Given the description of an element on the screen output the (x, y) to click on. 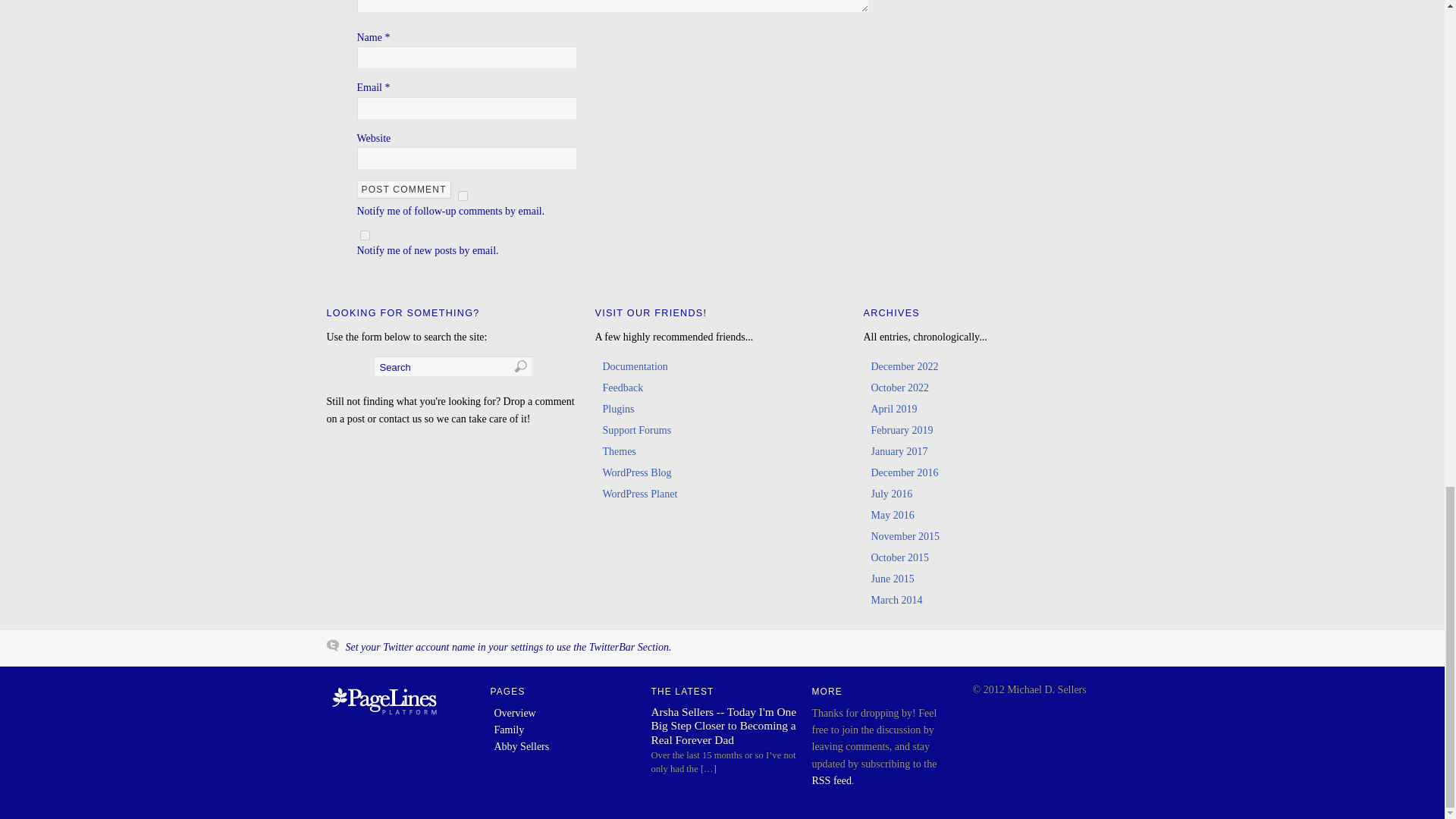
subscribe (364, 235)
Search (451, 366)
Search (451, 366)
subscribe (462, 195)
Post Comment (402, 189)
Post Comment (402, 189)
